Given the description of an element on the screen output the (x, y) to click on. 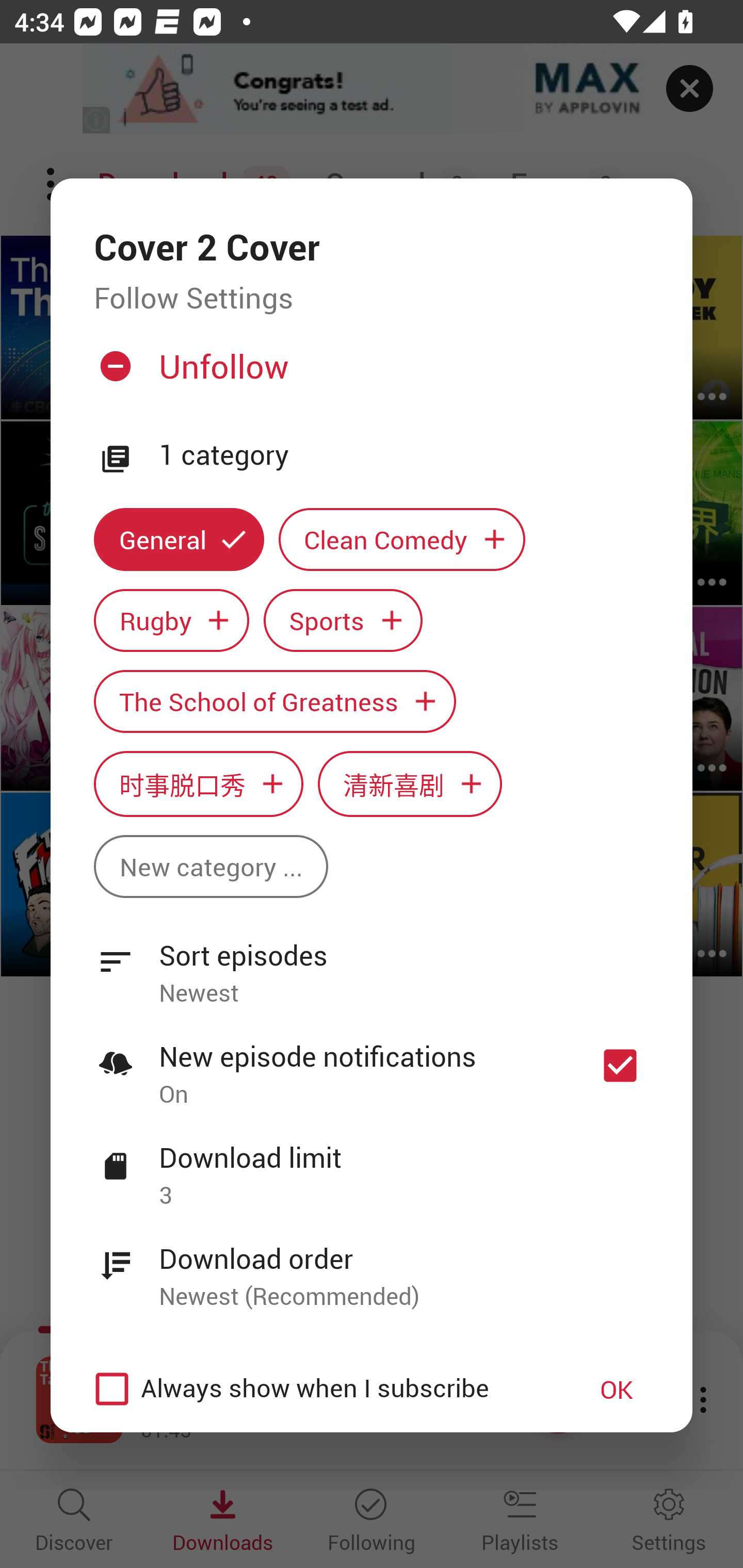
Unfollow (369, 374)
1 category (404, 455)
General (178, 539)
Clean Comedy (401, 539)
Rugby (170, 620)
Sports (342, 620)
The School of Greatness (274, 700)
时事脱口秀 (198, 783)
清新喜剧 (410, 783)
New category ... (210, 866)
Sort episodes Newest (371, 962)
New episode notifications (620, 1065)
Download limit 3 (371, 1164)
Download order Newest (Recommended) (371, 1266)
OK (616, 1388)
Always show when I subscribe (320, 1388)
